Given the description of an element on the screen output the (x, y) to click on. 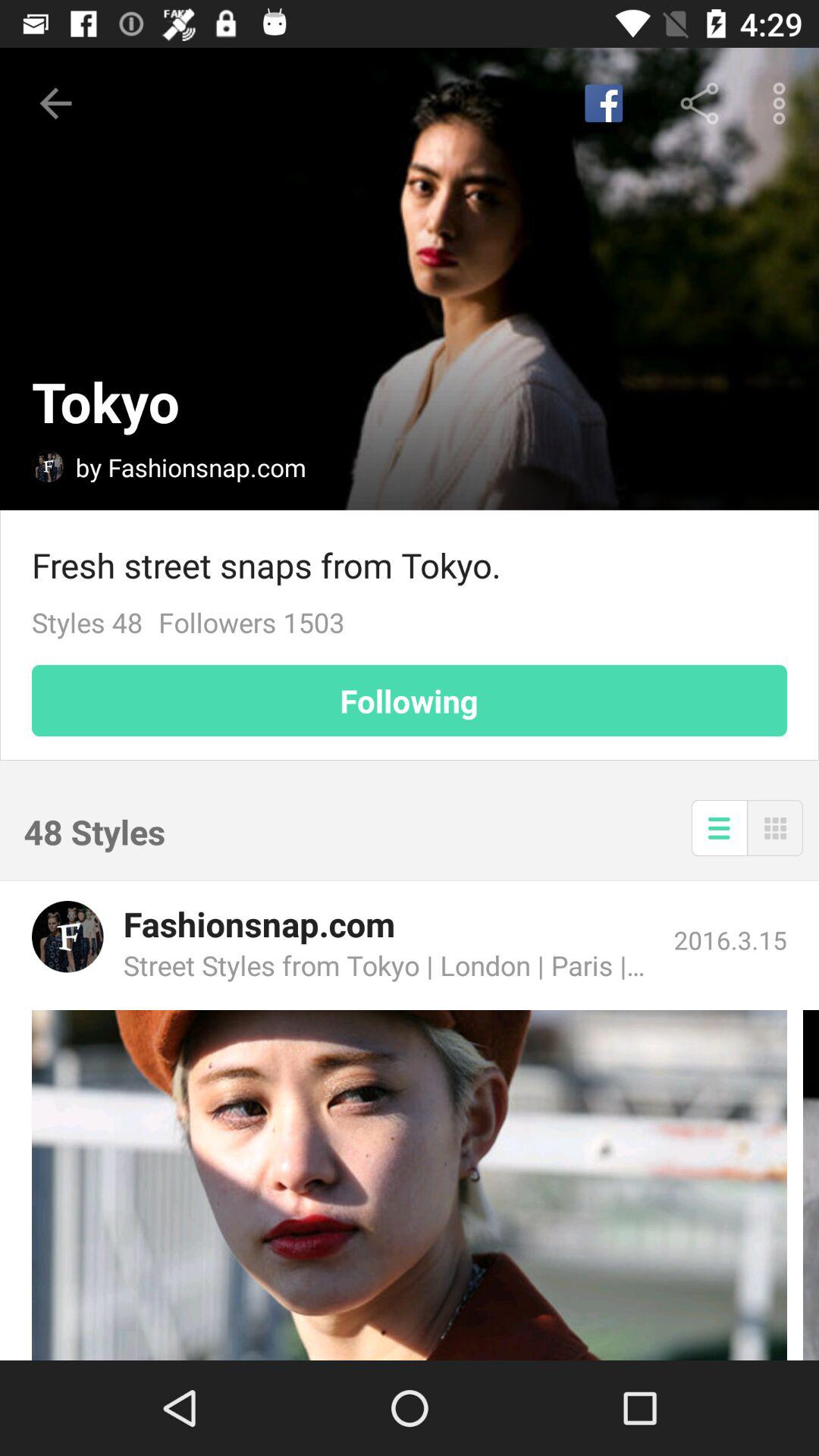
tap icon below styles 48 item (409, 700)
